Given the description of an element on the screen output the (x, y) to click on. 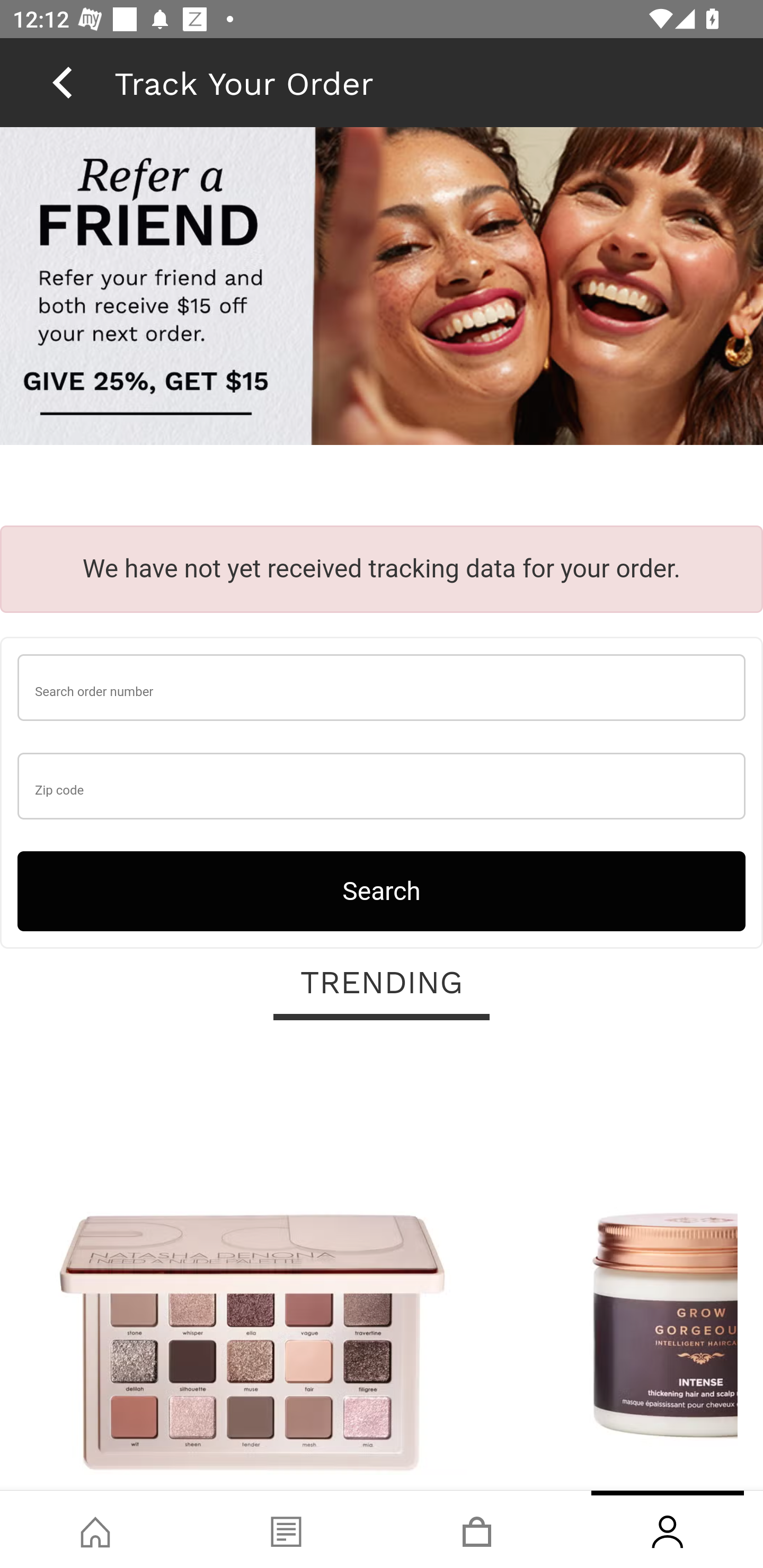
back (61, 82)
raf (381, 288)
Search (381, 890)
TRENDING (381, 983)
Natasha Denona I Need A Nude Palette (252, 1266)
Shop, tab, 1 of 4 (95, 1529)
Blog, tab, 2 of 4 (285, 1529)
Basket, tab, 3 of 4 (476, 1529)
Account, tab, 4 of 4 (667, 1529)
